Given the description of an element on the screen output the (x, y) to click on. 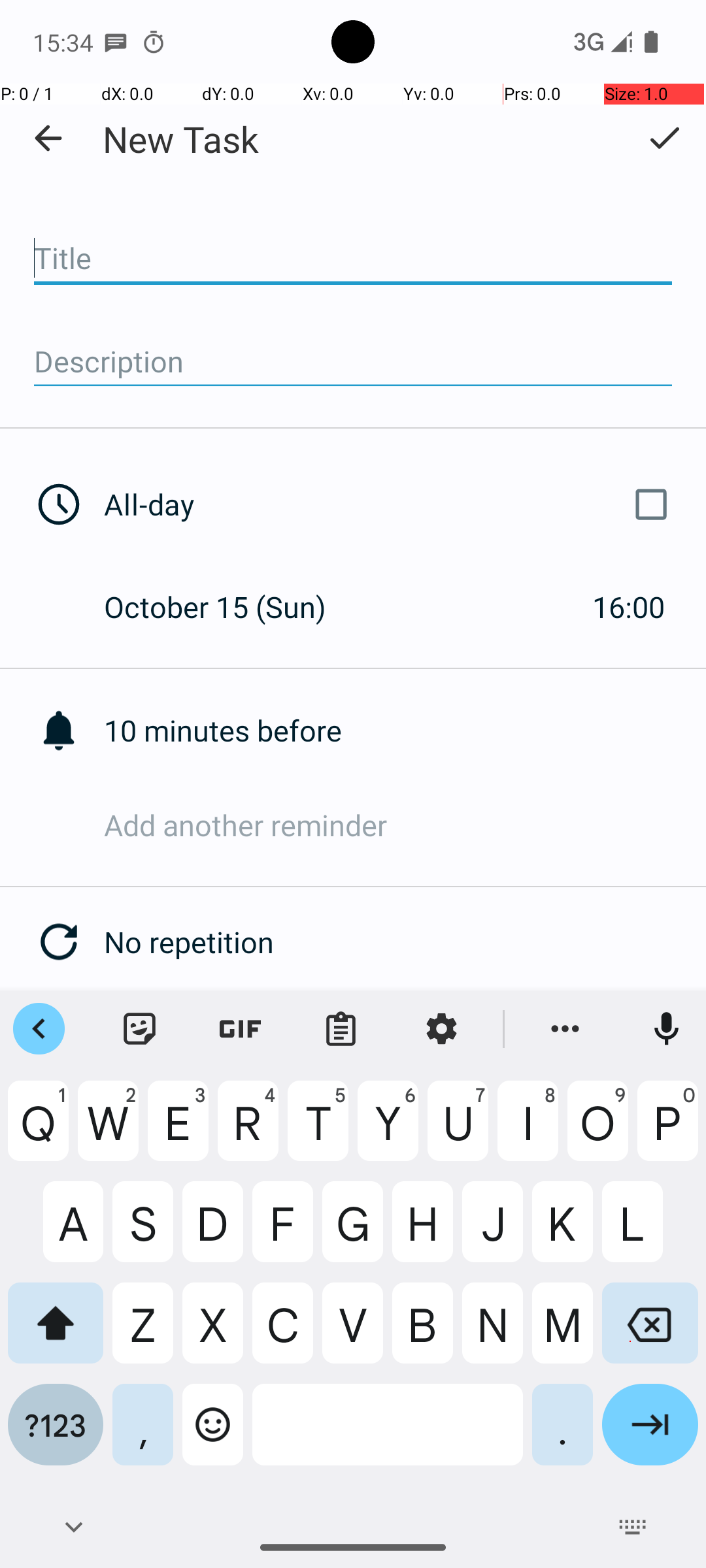
New Task Element type: android.widget.TextView (180, 138)
